Given the description of an element on the screen output the (x, y) to click on. 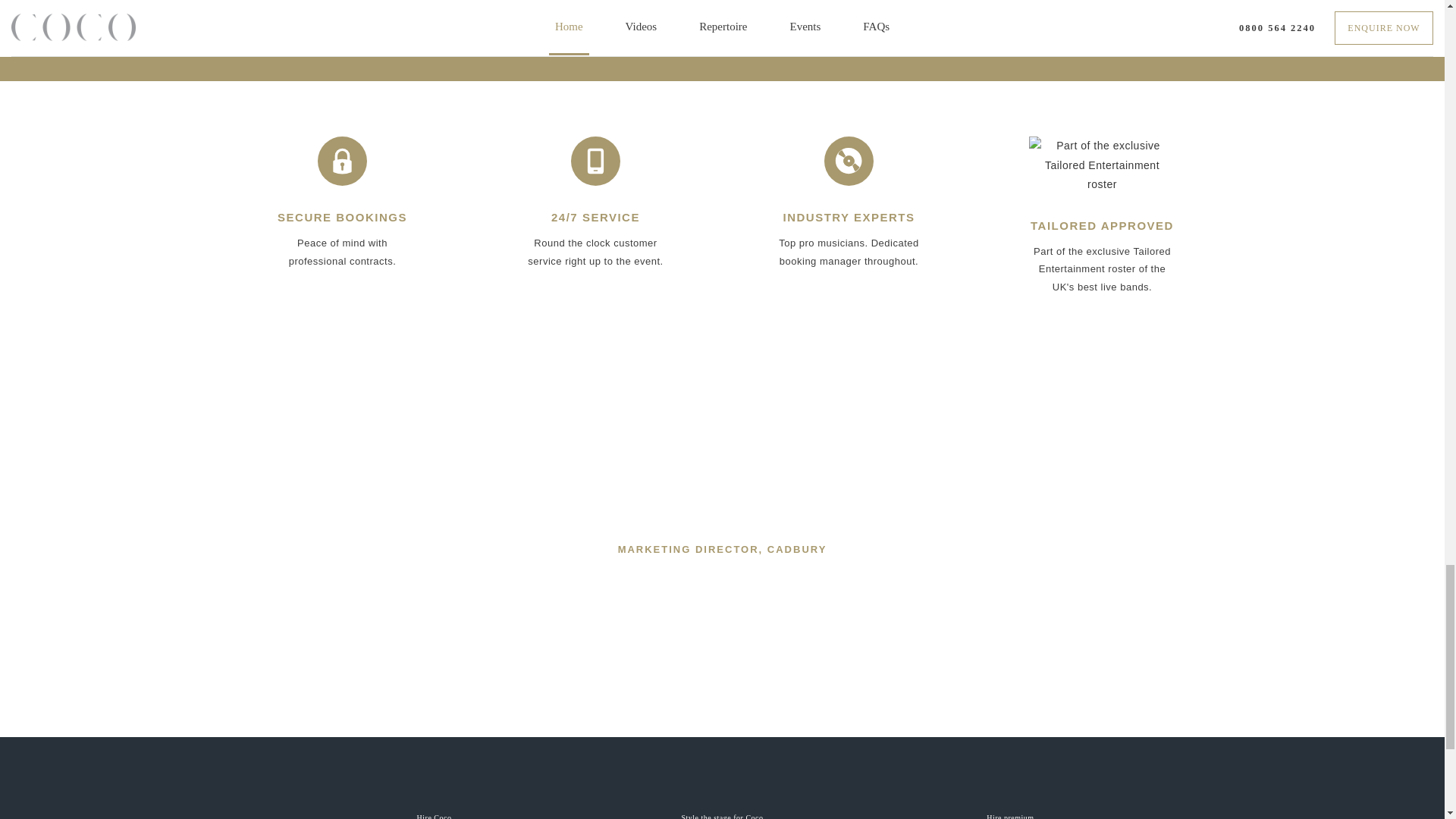
Hire premium production and lighting at Tailored AV (1011, 816)
Hire Coco and other Showband bands at Tailored Entertainment (721, 816)
